Given the description of an element on the screen output the (x, y) to click on. 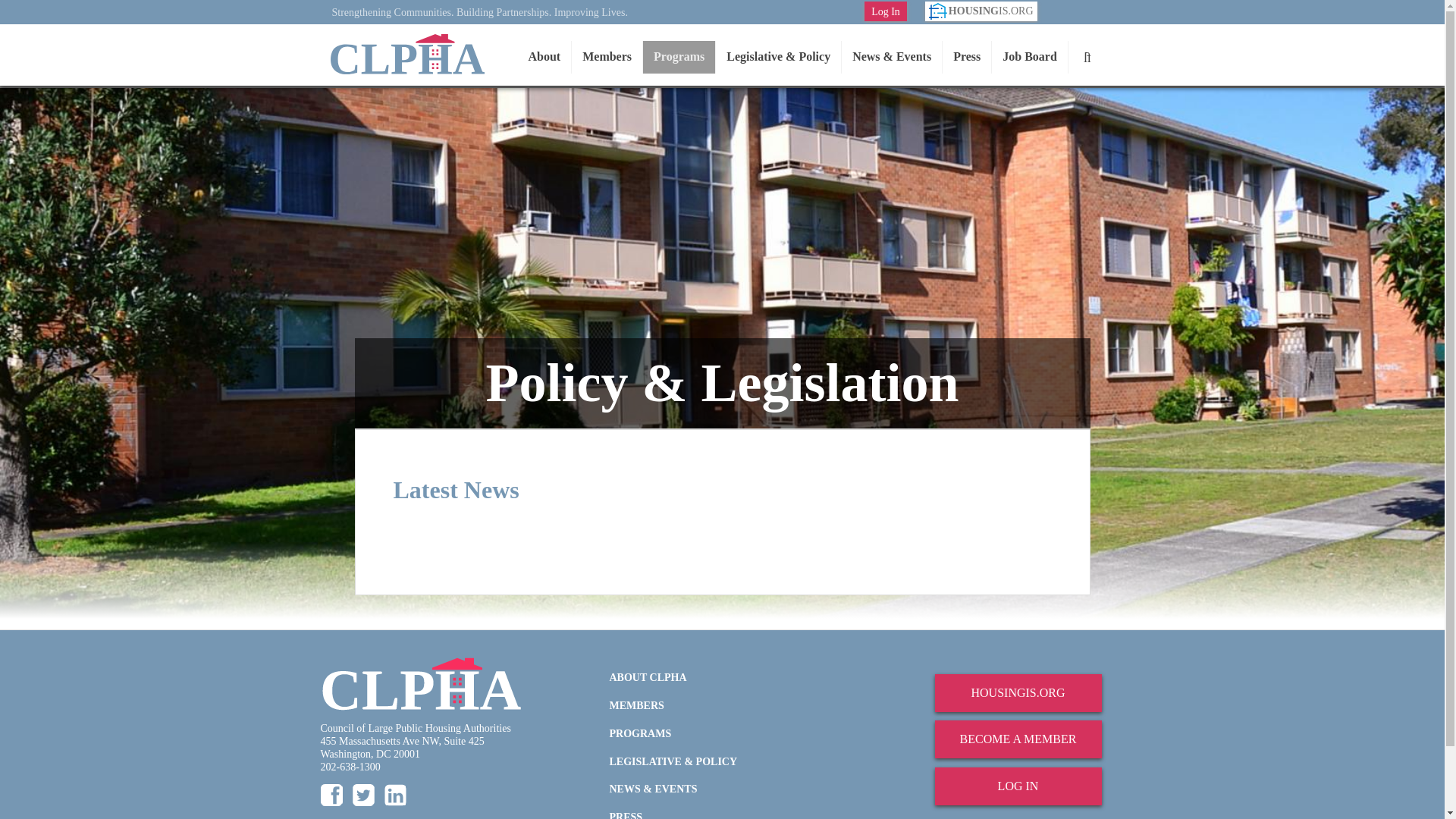
Home (406, 54)
Search (1087, 56)
